Given the description of an element on the screen output the (x, y) to click on. 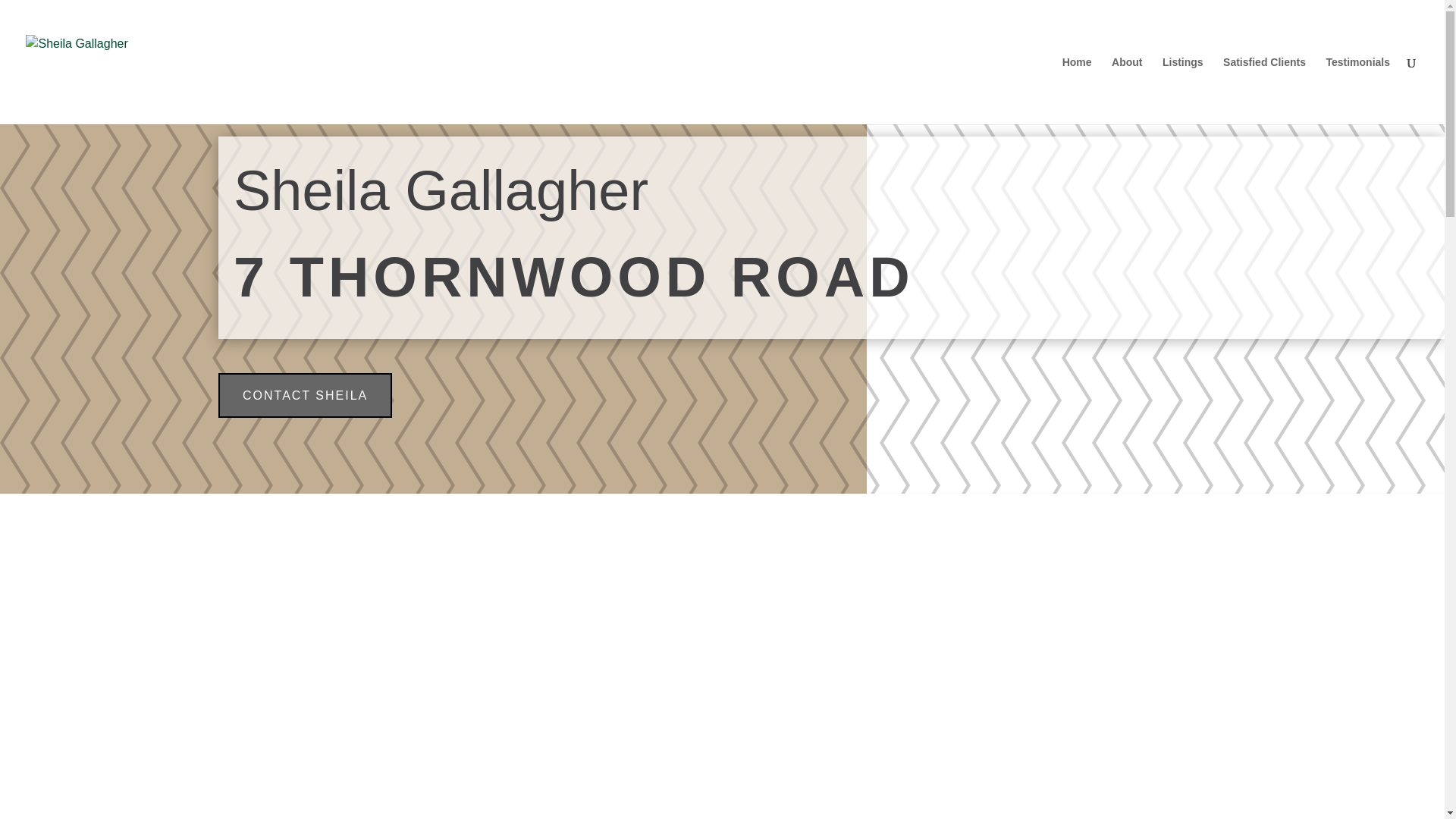
Satisfied Clients (1264, 90)
CONTACT SHEILA (304, 395)
Testimonials (1357, 90)
